Given the description of an element on the screen output the (x, y) to click on. 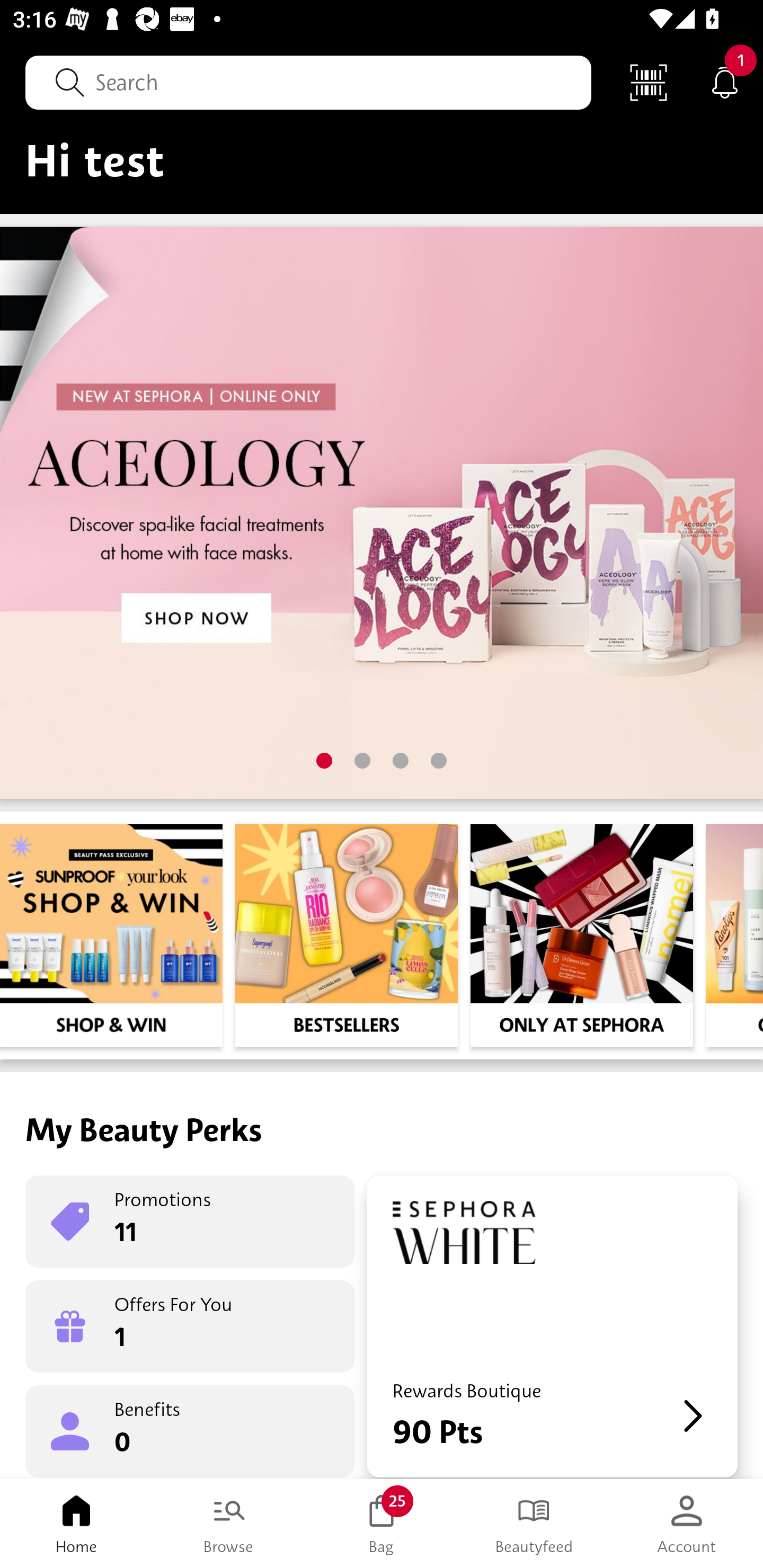
Scan Code (648, 81)
Notifications (724, 81)
Search (308, 81)
Promotions 11 (189, 1221)
Rewards Boutique 90 Pts (552, 1326)
Offers For You 1 (189, 1326)
Benefits 0 (189, 1430)
Browse (228, 1523)
Bag 25 Bag (381, 1523)
Beautyfeed (533, 1523)
Account (686, 1523)
